Given the description of an element on the screen output the (x, y) to click on. 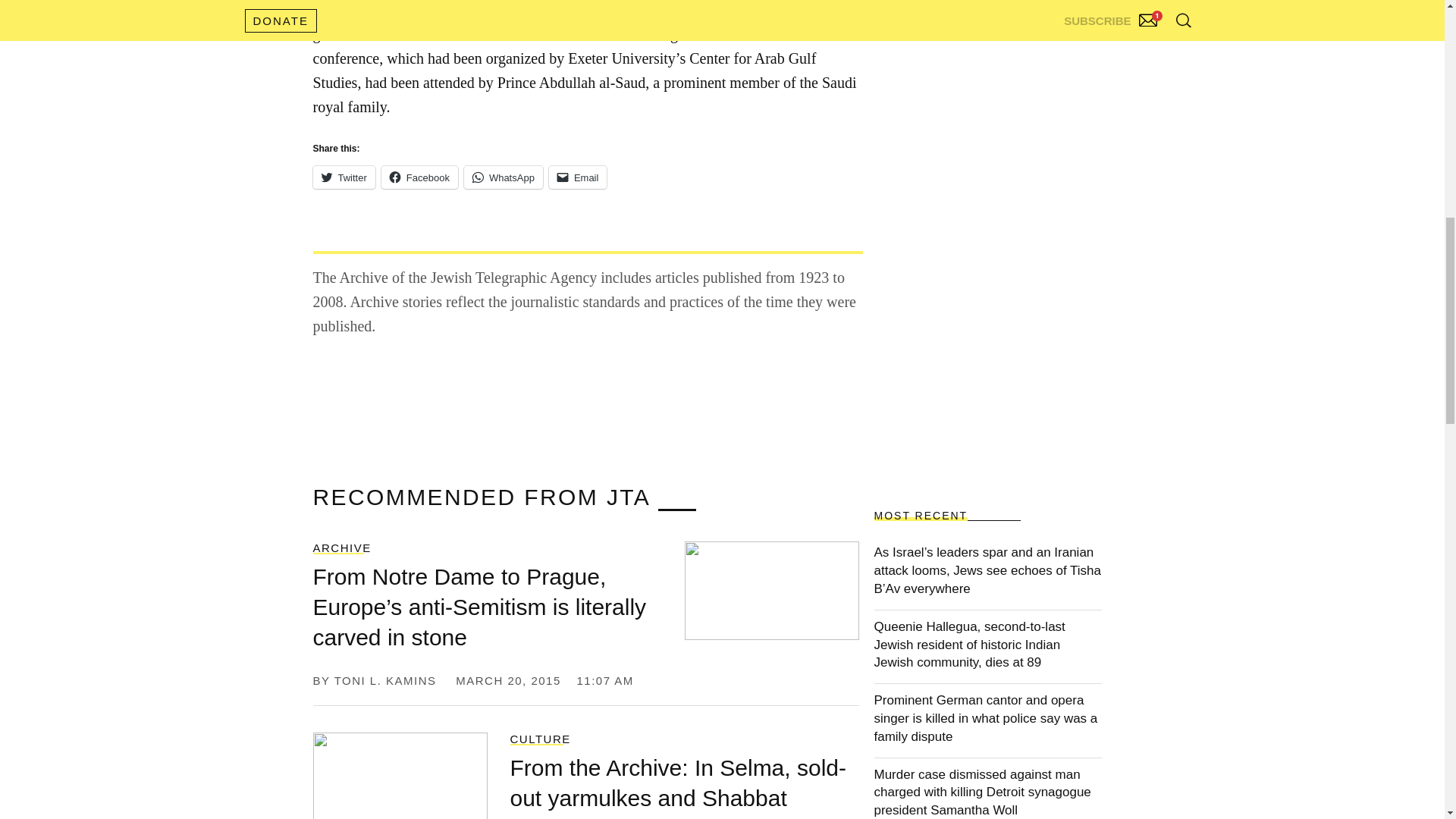
Click to share on Facebook (419, 177)
Click to email a link to a friend (577, 177)
Click to share on WhatsApp (503, 177)
Click to share on Twitter (343, 177)
